Given the description of an element on the screen output the (x, y) to click on. 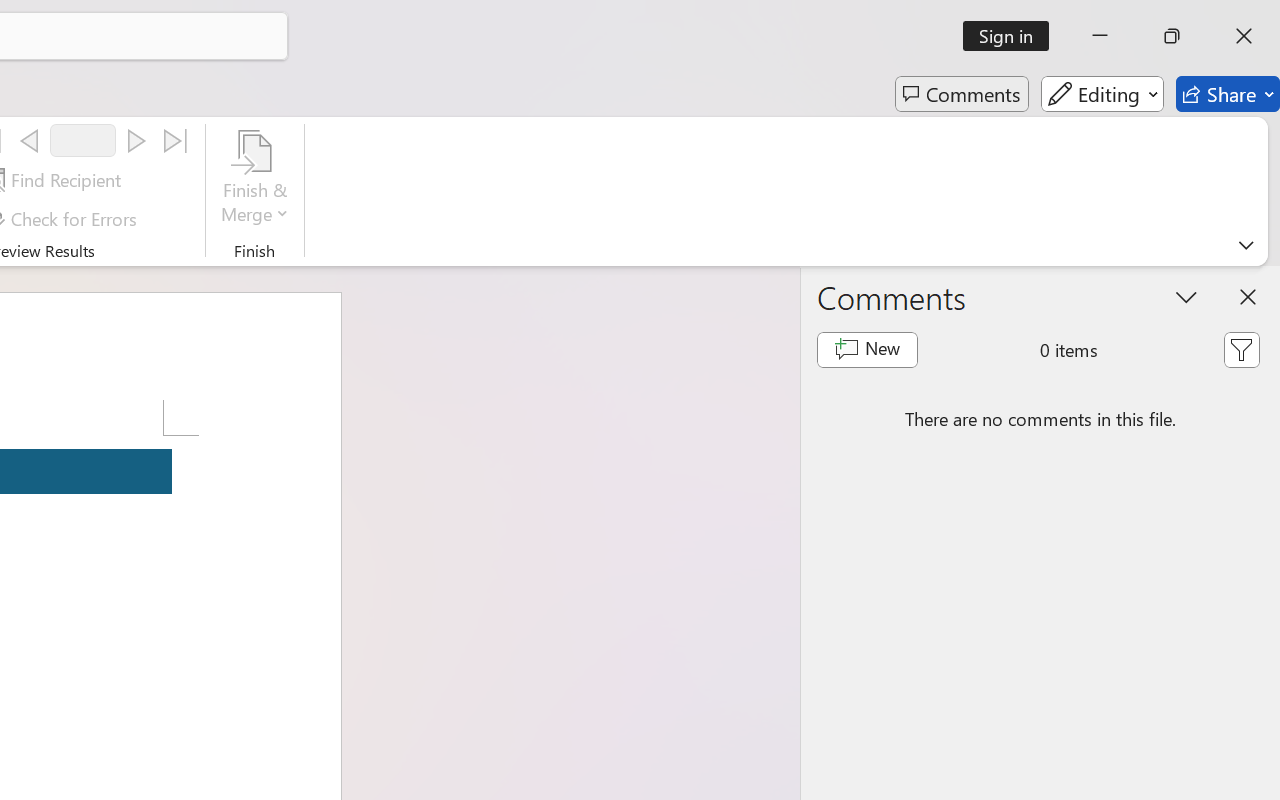
Last (175, 141)
New comment (866, 350)
Record (83, 140)
Filter (1241, 350)
Finish & Merge (255, 179)
Previous (29, 141)
Editing (1101, 94)
Sign in (1012, 35)
Next (136, 141)
